Given the description of an element on the screen output the (x, y) to click on. 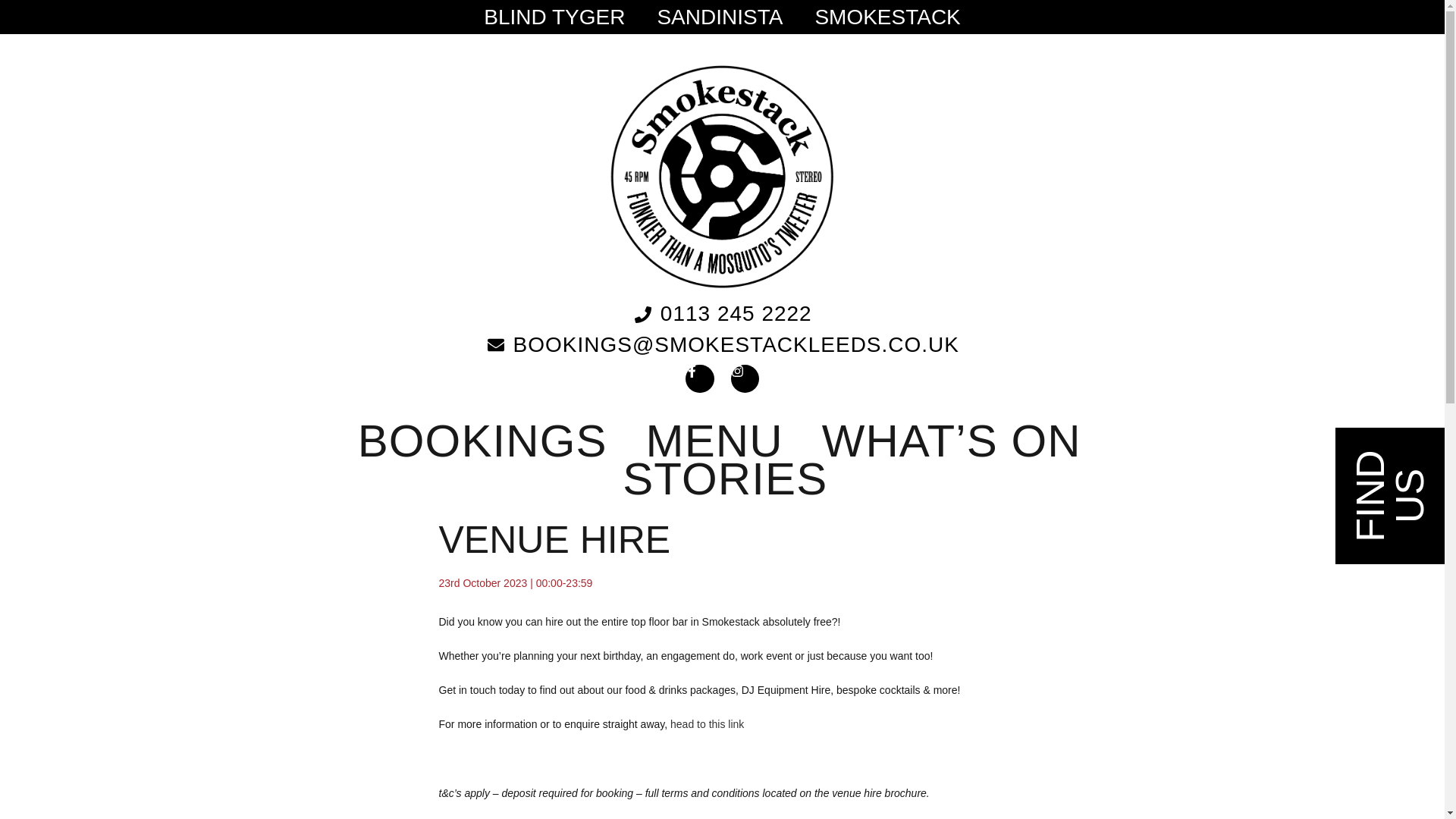
MENU (713, 441)
BLIND TYGER (554, 16)
SANDINISTA (719, 16)
STORIES (724, 478)
BOOKINGS (482, 441)
SMOKESTACK (887, 16)
0113 245 2222 (722, 313)
